Given the description of an element on the screen output the (x, y) to click on. 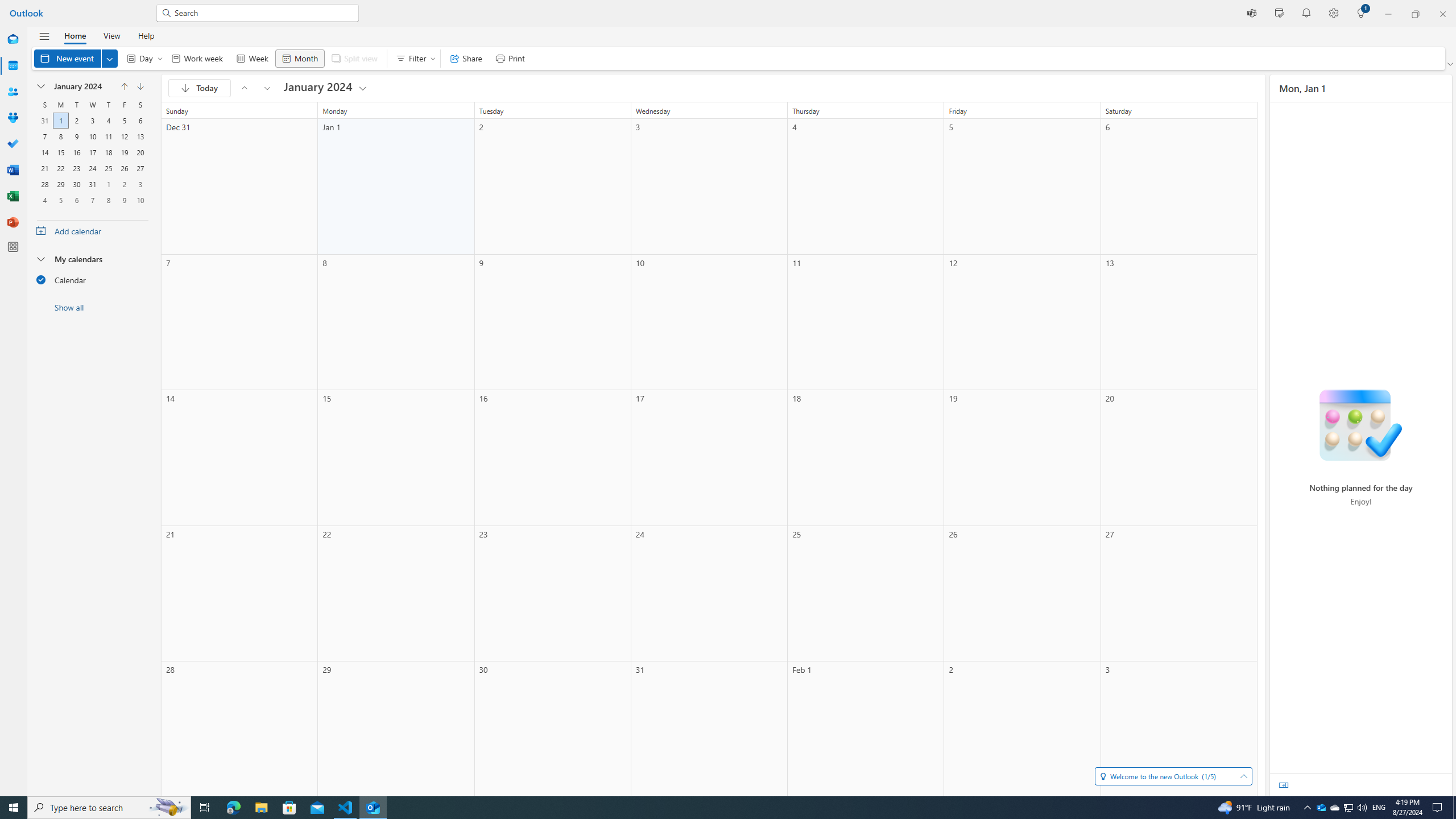
17, January, 2024 (92, 151)
Go to next month February (140, 86)
3, February, 2024 (140, 184)
24, January, 2024 (92, 168)
10, January, 2024 (92, 136)
My calendarsCalendar (92, 272)
Saturday (140, 104)
7, January, 2024 (44, 136)
6, January, 2024 (140, 120)
Class: weekRow-466 (92, 200)
23, January, 2024 (76, 168)
28, January, 2024 (44, 183)
